Given the description of an element on the screen output the (x, y) to click on. 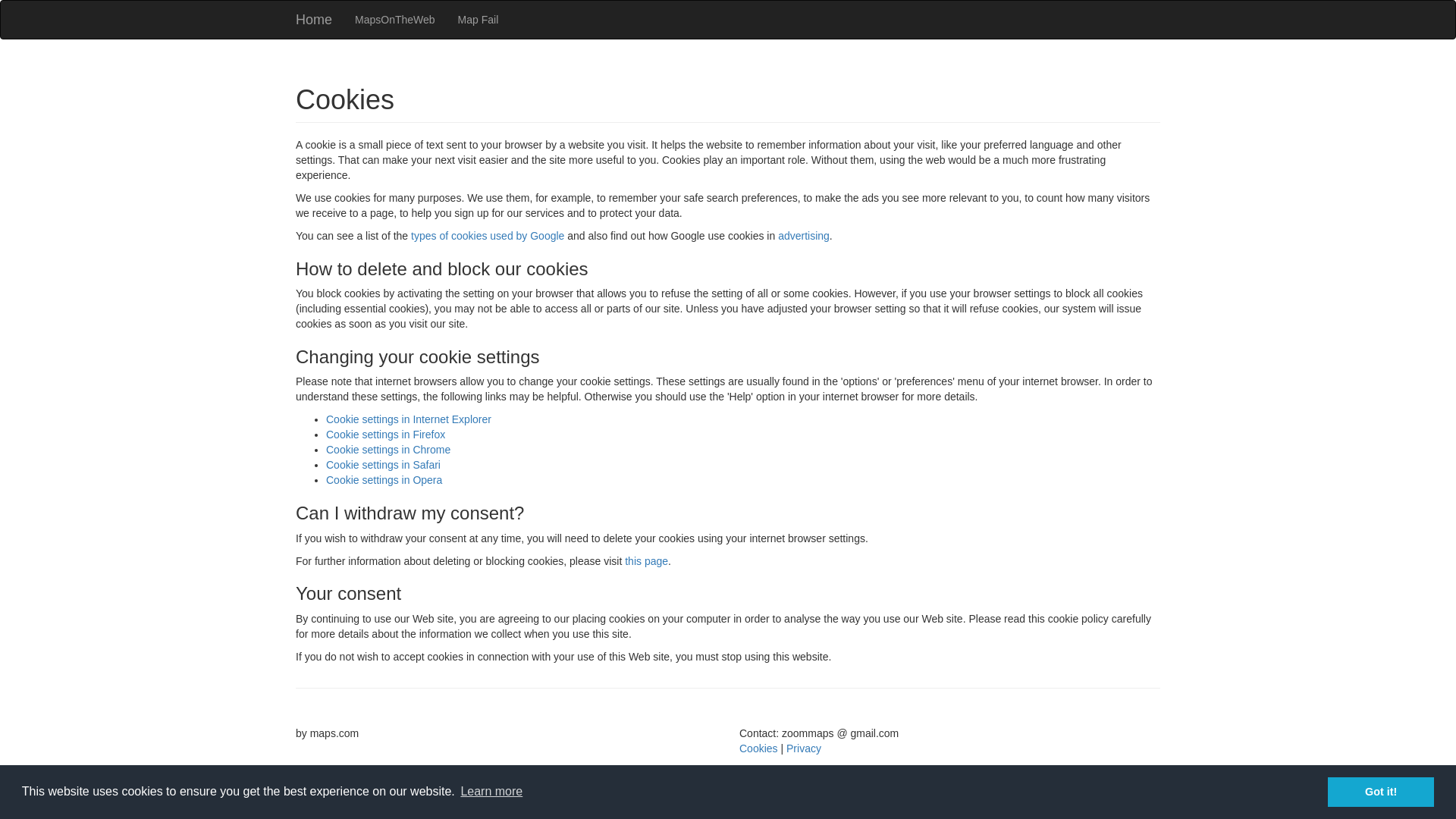
Privacy (803, 748)
this page (646, 561)
Cookie settings in Chrome (387, 449)
Cookies (758, 748)
Mapsontheweb (394, 19)
advertising (803, 235)
Map Fail (478, 19)
Cookie settings in Firefox (385, 434)
Home (313, 19)
types of cookies used by Google (487, 235)
